Given the description of an element on the screen output the (x, y) to click on. 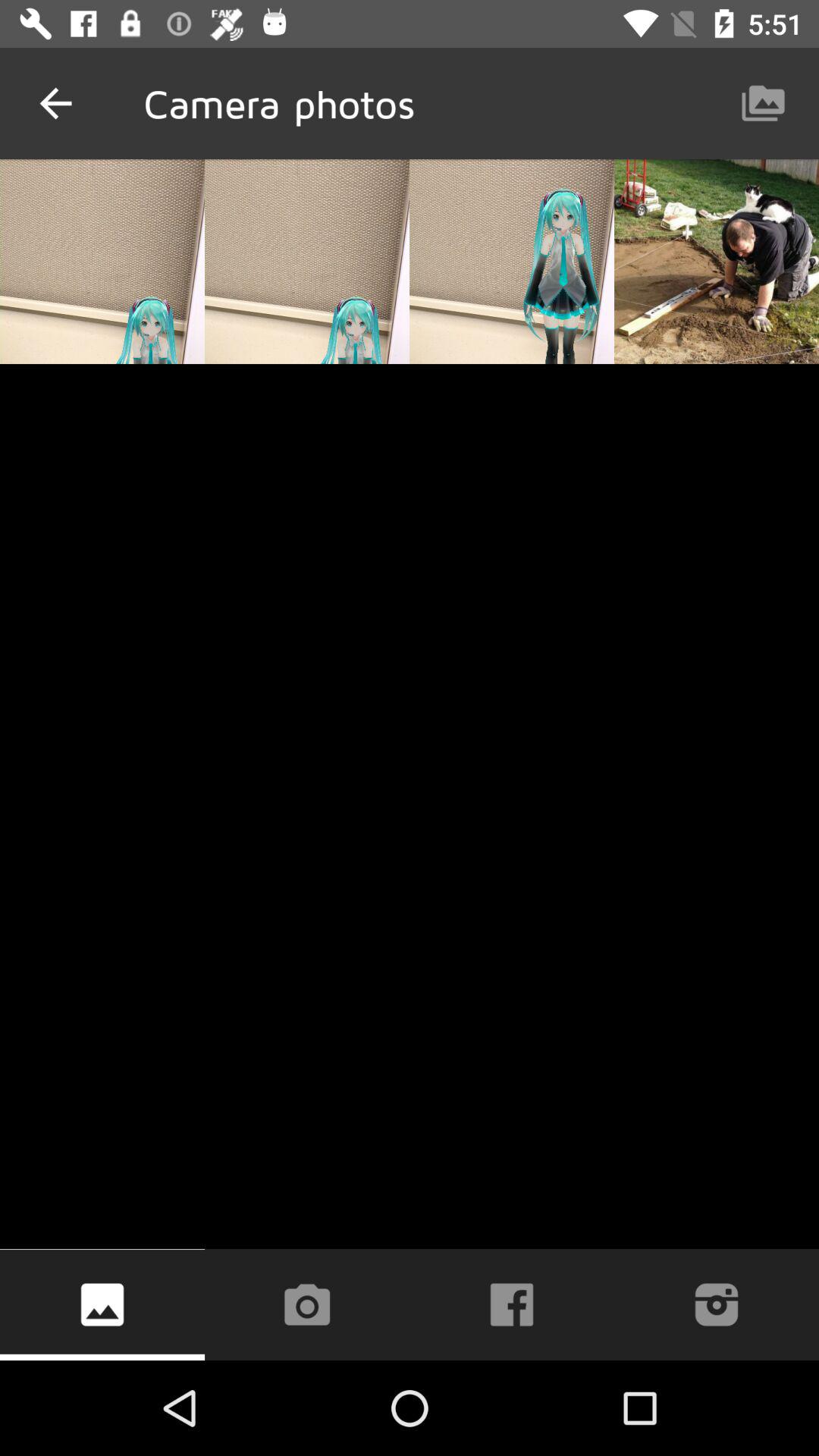
take a picture (306, 1304)
